Given the description of an element on the screen output the (x, y) to click on. 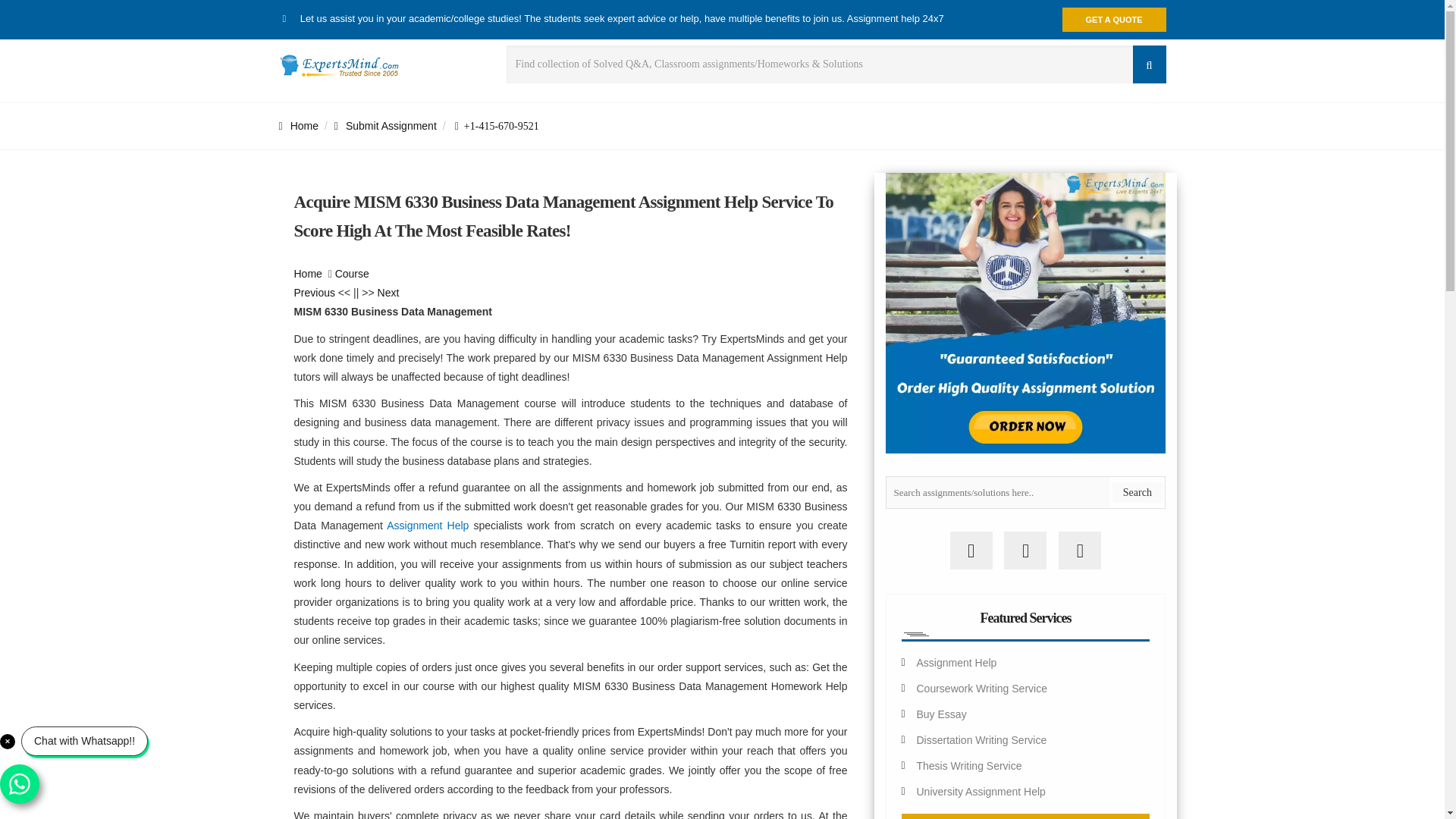
Coursework Writing Service (980, 688)
Submit Assignment (385, 125)
University Assignment Help (980, 791)
Course (351, 273)
Assignment Help (955, 662)
Home (298, 125)
Dissertation Writing Service (980, 739)
Buy Essay (940, 714)
Order Now (1025, 816)
Home (307, 273)
